Given the description of an element on the screen output the (x, y) to click on. 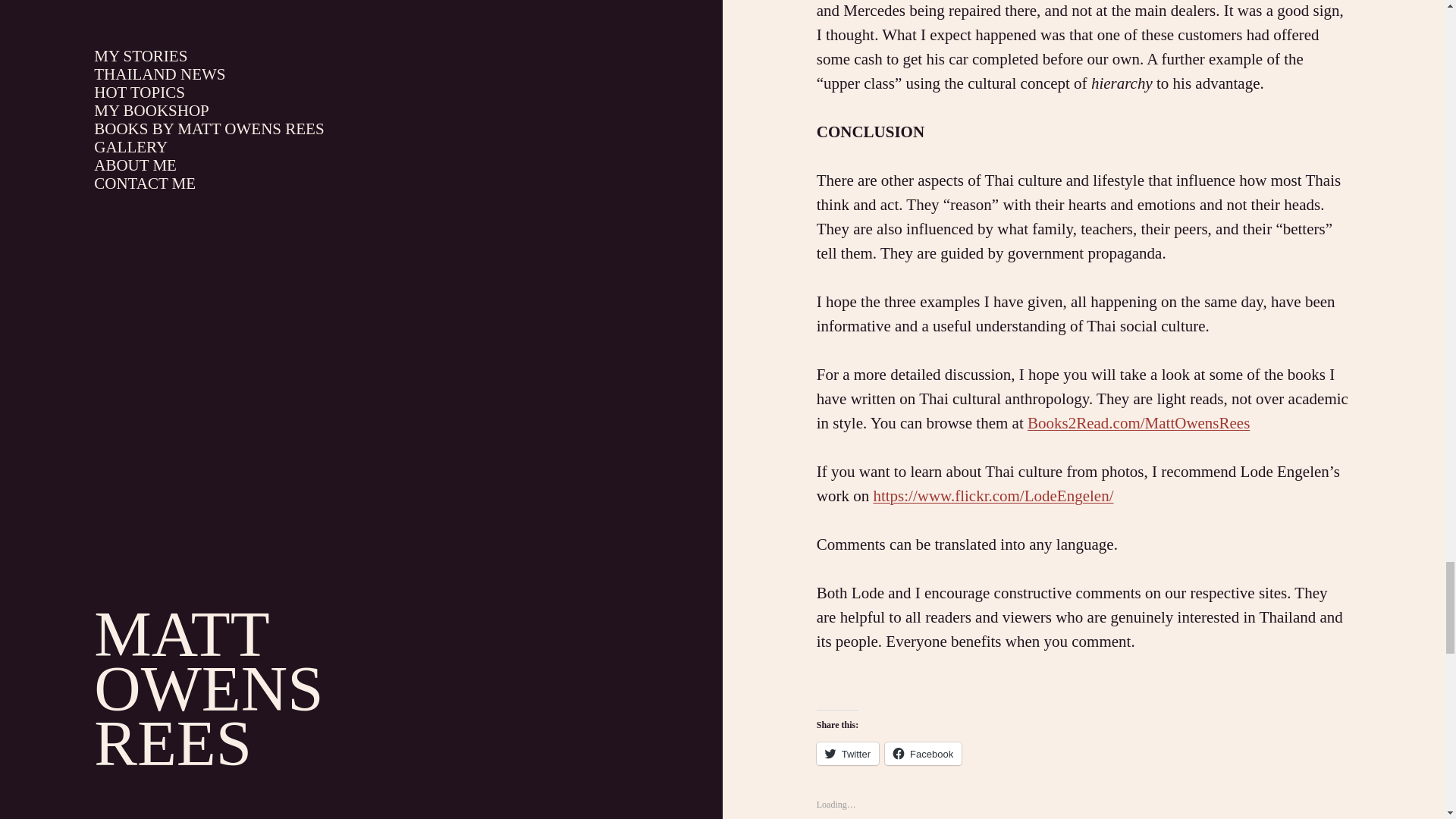
Twitter (847, 753)
Click to share on Twitter (847, 753)
Click to share on Facebook (922, 753)
Facebook (922, 753)
